Given the description of an element on the screen output the (x, y) to click on. 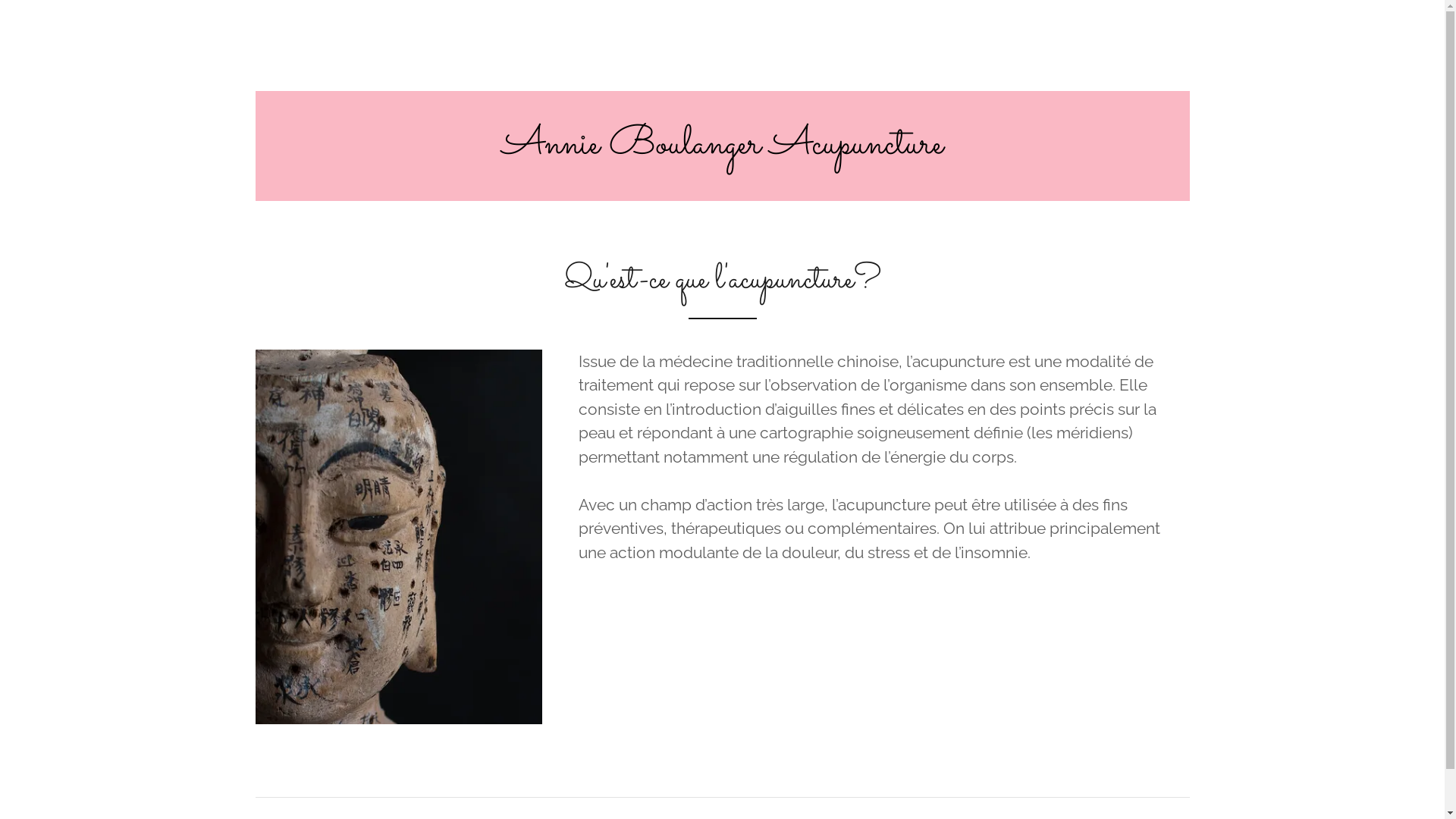
Annie Boulanger Acupuncture Element type: text (722, 147)
